Given the description of an element on the screen output the (x, y) to click on. 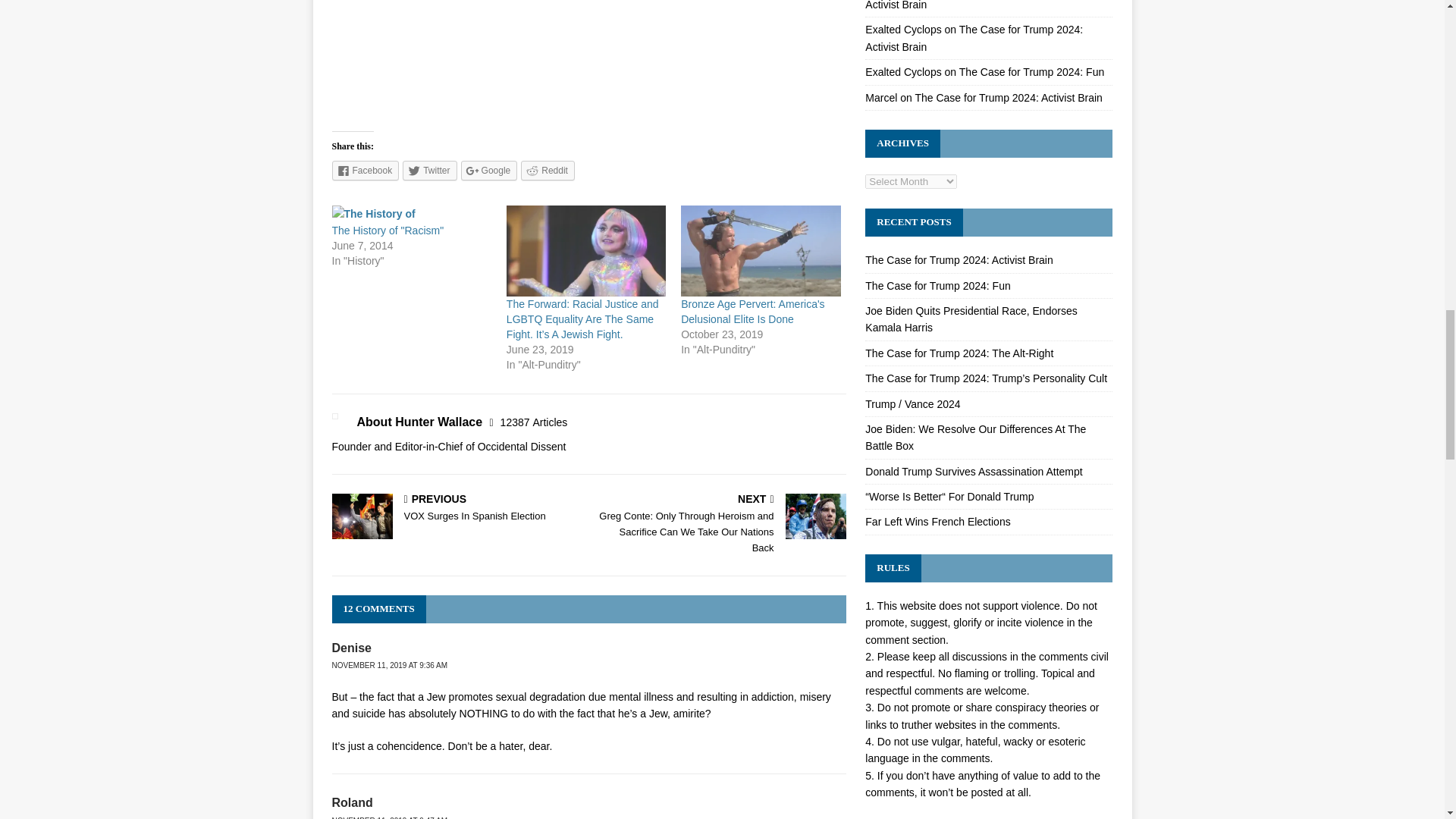
Click to share on Twitter (430, 170)
Reddit (548, 170)
More articles written by Hunter Wallace' (533, 422)
Click to share on Facebook (364, 170)
Google (489, 170)
Facebook (364, 170)
Bronze Age Pervert: America's Delusional Elite Is Done (752, 311)
The History of "Racism" (387, 230)
Twitter (430, 170)
Click to share on Reddit (548, 170)
